Given the description of an element on the screen output the (x, y) to click on. 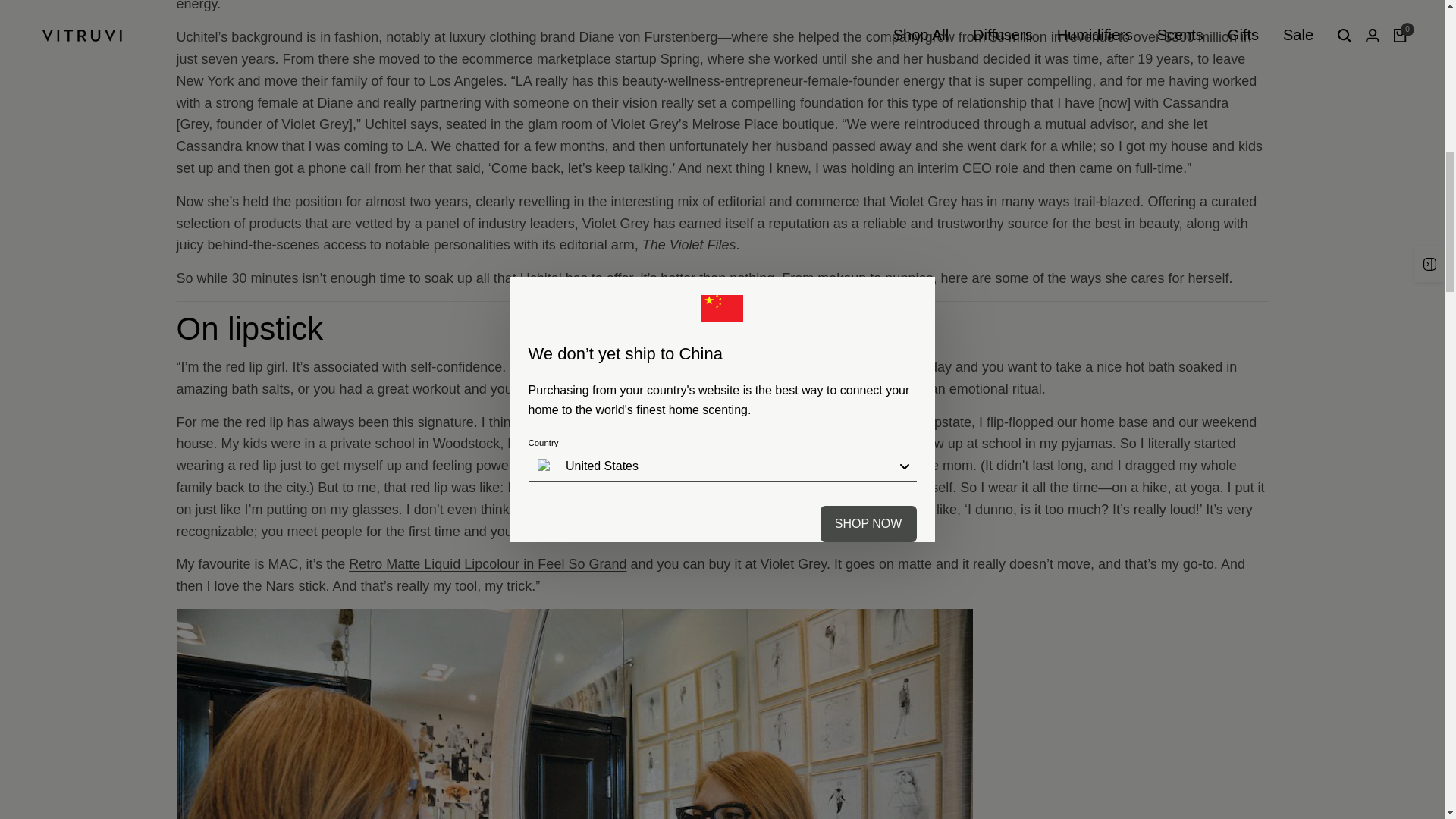
MAC Retro Matte Lipcolour Violet Grey (487, 563)
